Given the description of an element on the screen output the (x, y) to click on. 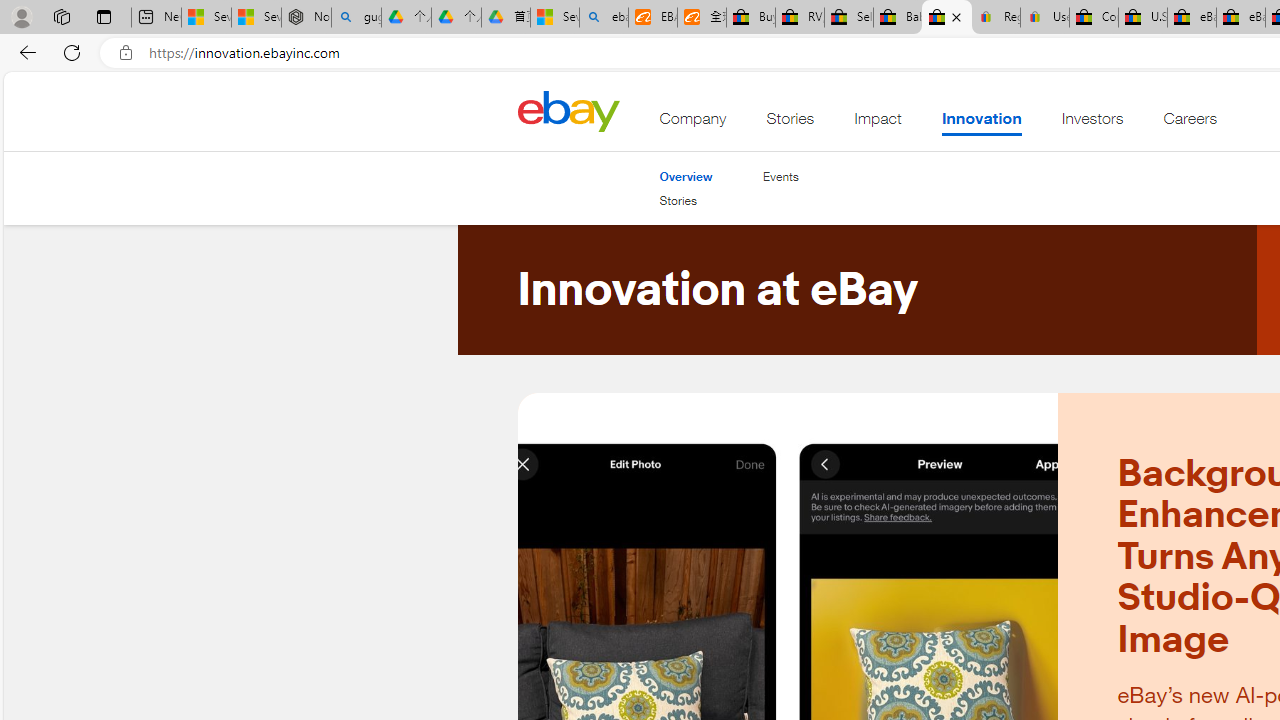
Overview (685, 176)
U.S. State Privacy Disclosures - eBay Inc. (1142, 17)
Events (779, 176)
Careers (1190, 123)
Stories (685, 201)
Company (693, 123)
Innovation - eBay Inc. (946, 17)
Overview (685, 176)
User Privacy Notice | eBay (1044, 17)
Innovation (980, 123)
Company (693, 123)
Register: Create a personal eBay account (995, 17)
Events (779, 176)
